Given the description of an element on the screen output the (x, y) to click on. 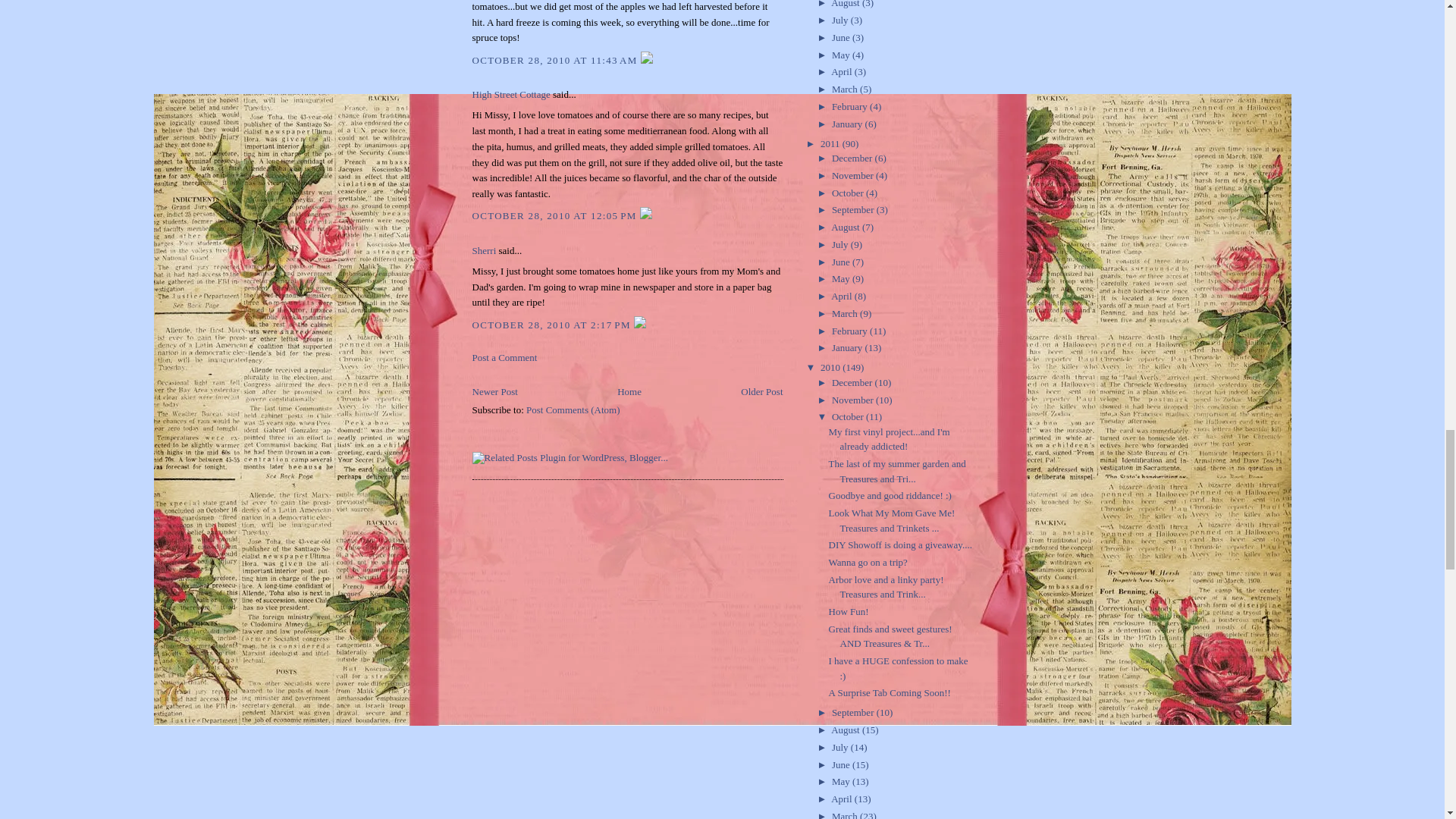
comment permalink (555, 60)
High Street Cottage (510, 93)
Delete Comment (646, 60)
